Given the description of an element on the screen output the (x, y) to click on. 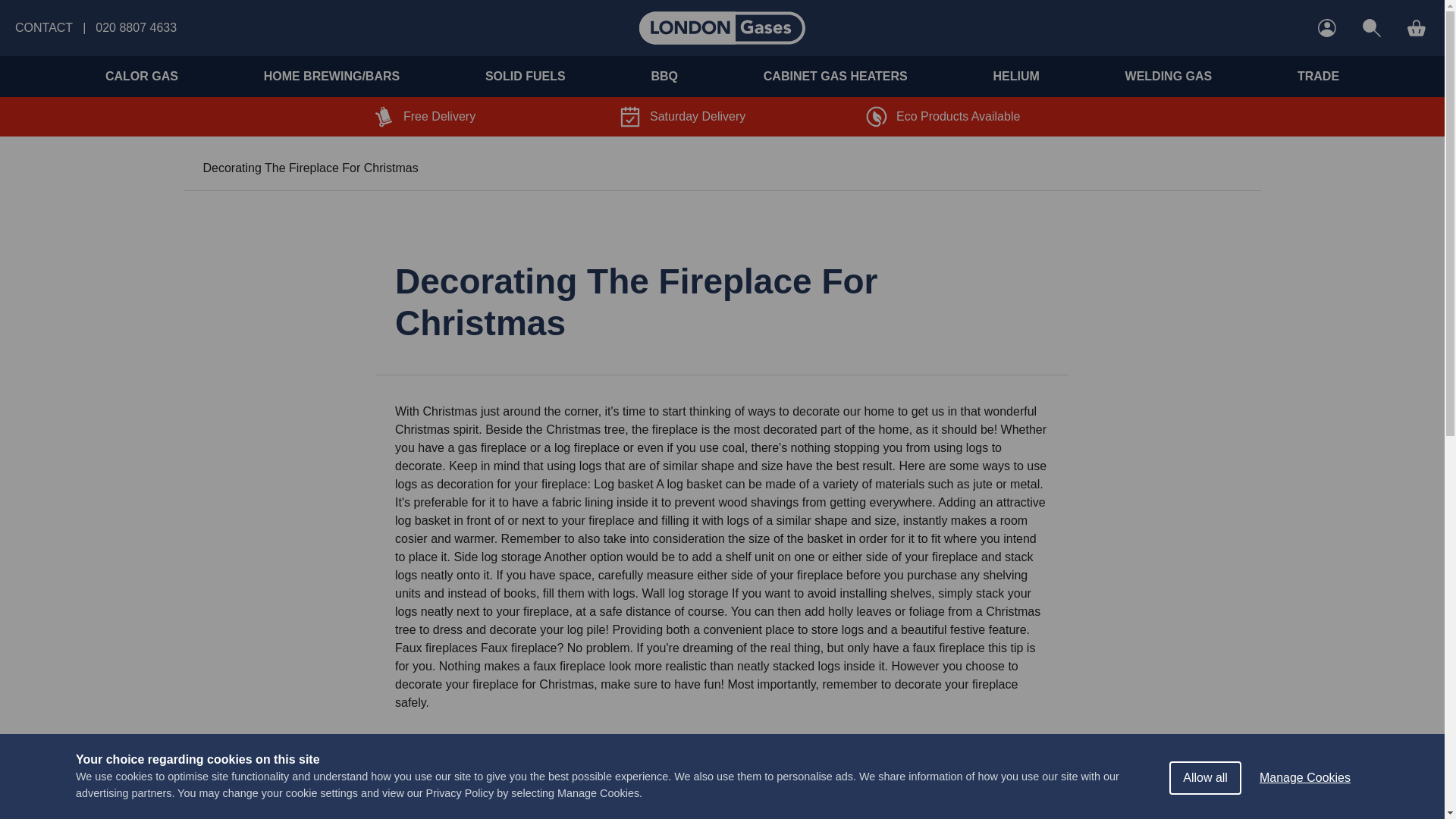
Log in (1326, 27)
CALOR GAS (140, 76)
020 8807 4633 (136, 27)
Basket (1416, 27)
